Given the description of an element on the screen output the (x, y) to click on. 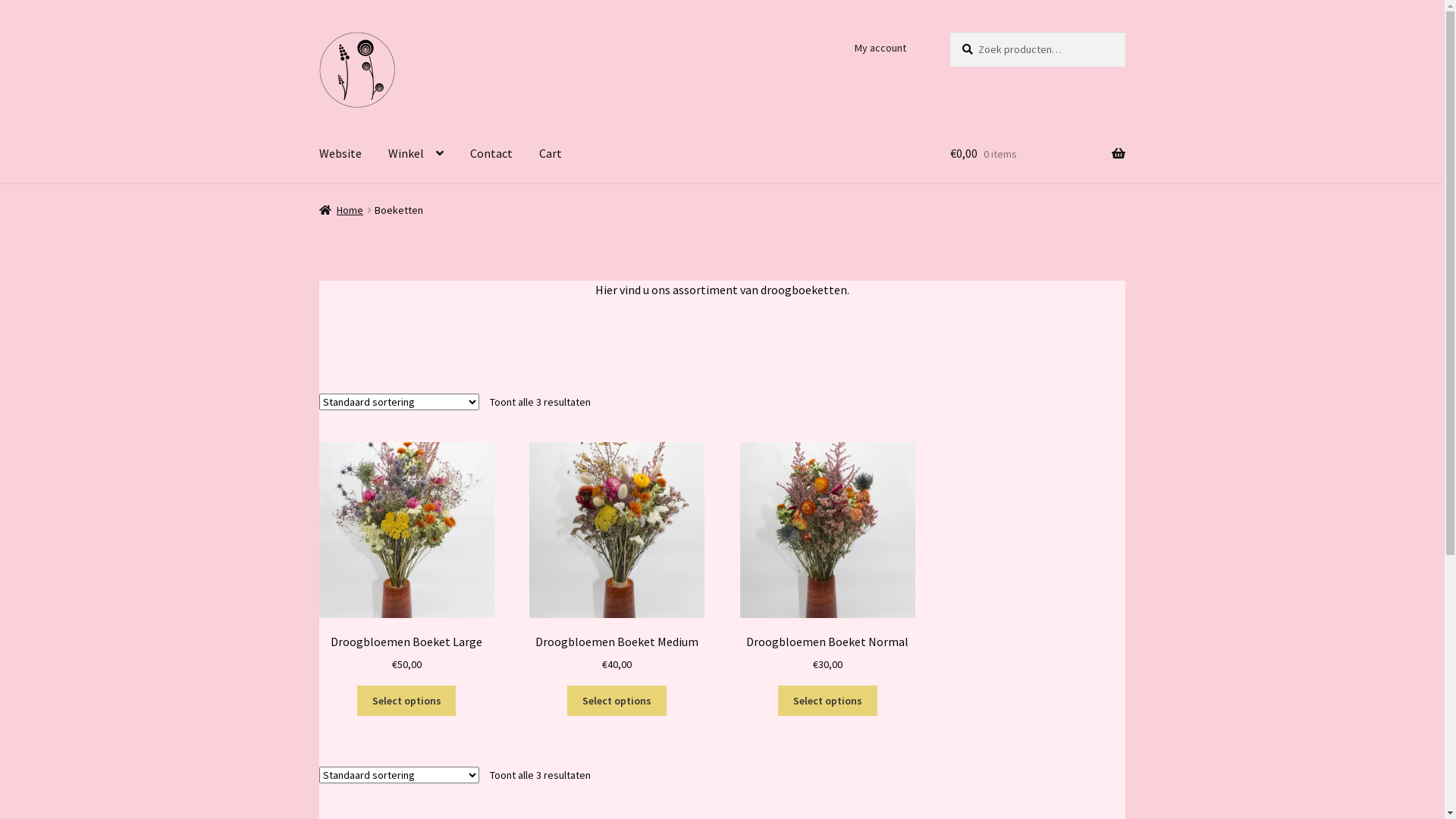
Home Element type: text (341, 209)
Winkel Element type: text (415, 154)
Cart Element type: text (550, 154)
Select options Element type: text (406, 700)
Select options Element type: text (827, 700)
Select options Element type: text (616, 700)
Contact Element type: text (491, 154)
Website Element type: text (340, 154)
Ga door naar navigatie Element type: text (318, 31)
Zoeken Element type: text (949, 31)
My account Element type: text (879, 47)
